Given the description of an element on the screen output the (x, y) to click on. 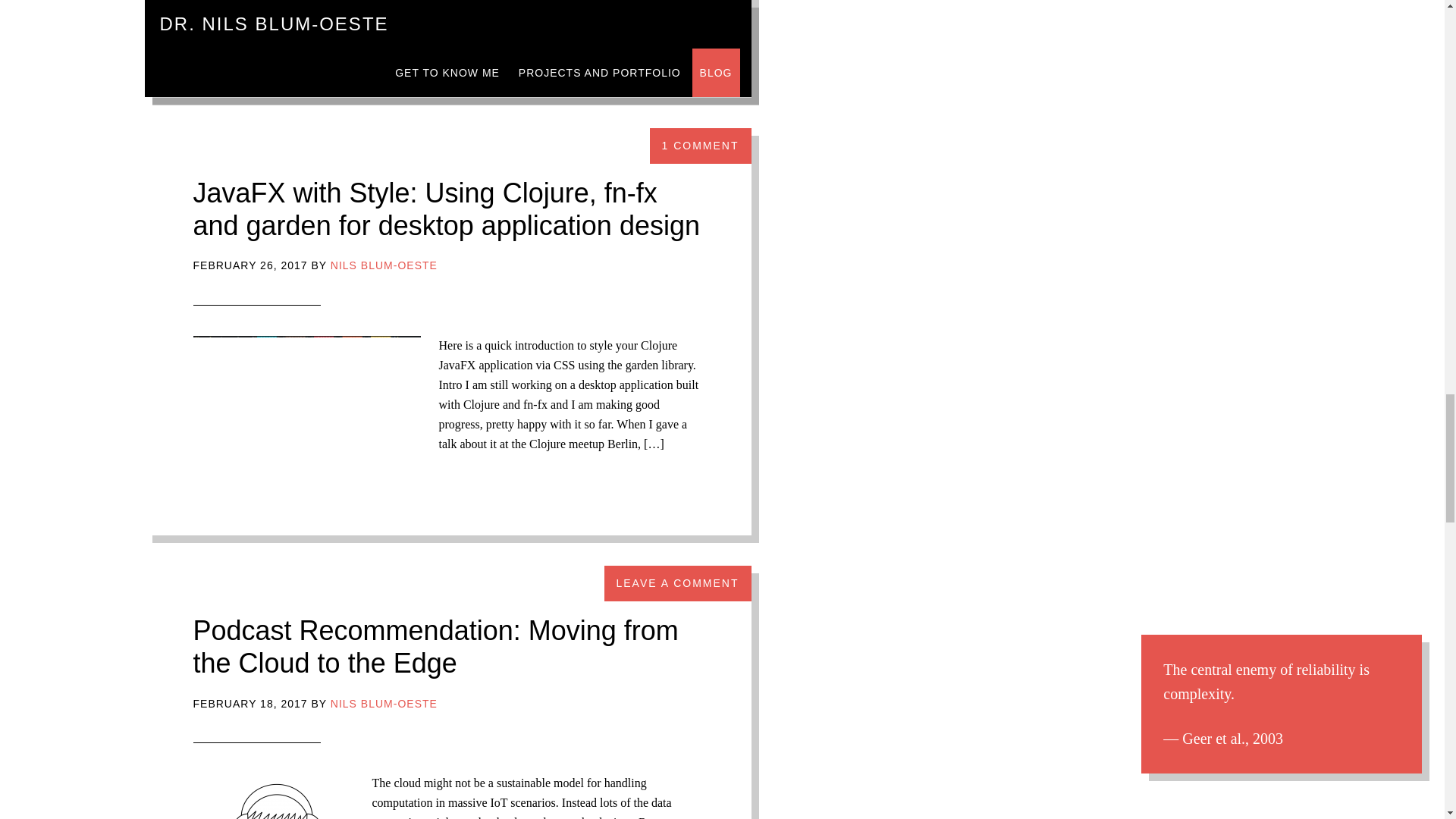
LEAVE A COMMENT (677, 583)
Podcast Recommendation: Moving from the Cloud to the Edge (435, 646)
1 COMMENT (700, 145)
NILS BLUM-OESTE (384, 265)
NILS BLUM-OESTE (384, 703)
